Given the description of an element on the screen output the (x, y) to click on. 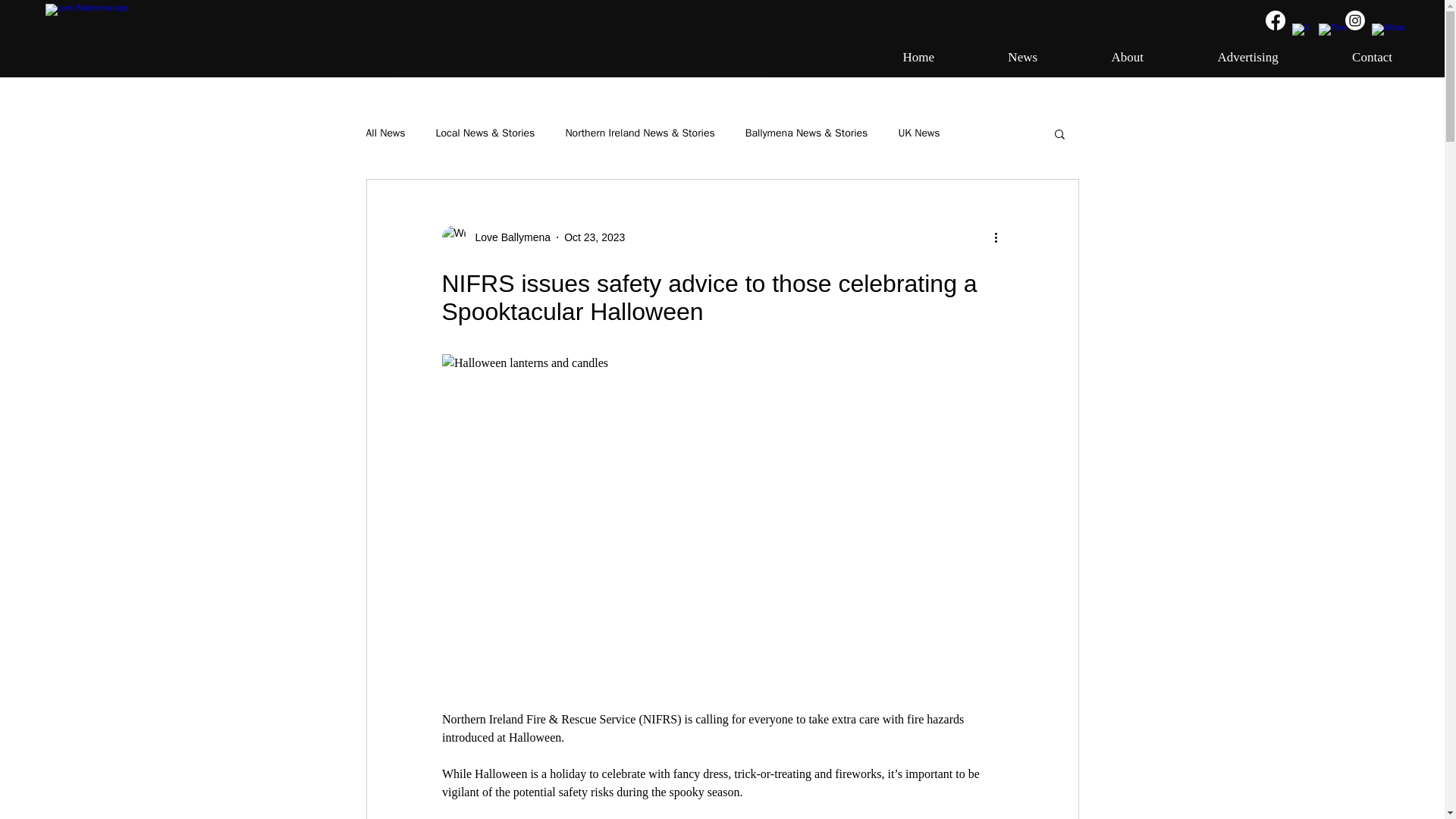
Contact (1345, 57)
Love Ballymena (507, 236)
UK News (918, 133)
Oct 23, 2023 (594, 236)
About (1101, 57)
All News (384, 133)
News (996, 57)
Advertising (1221, 57)
Home (892, 57)
